Given the description of an element on the screen output the (x, y) to click on. 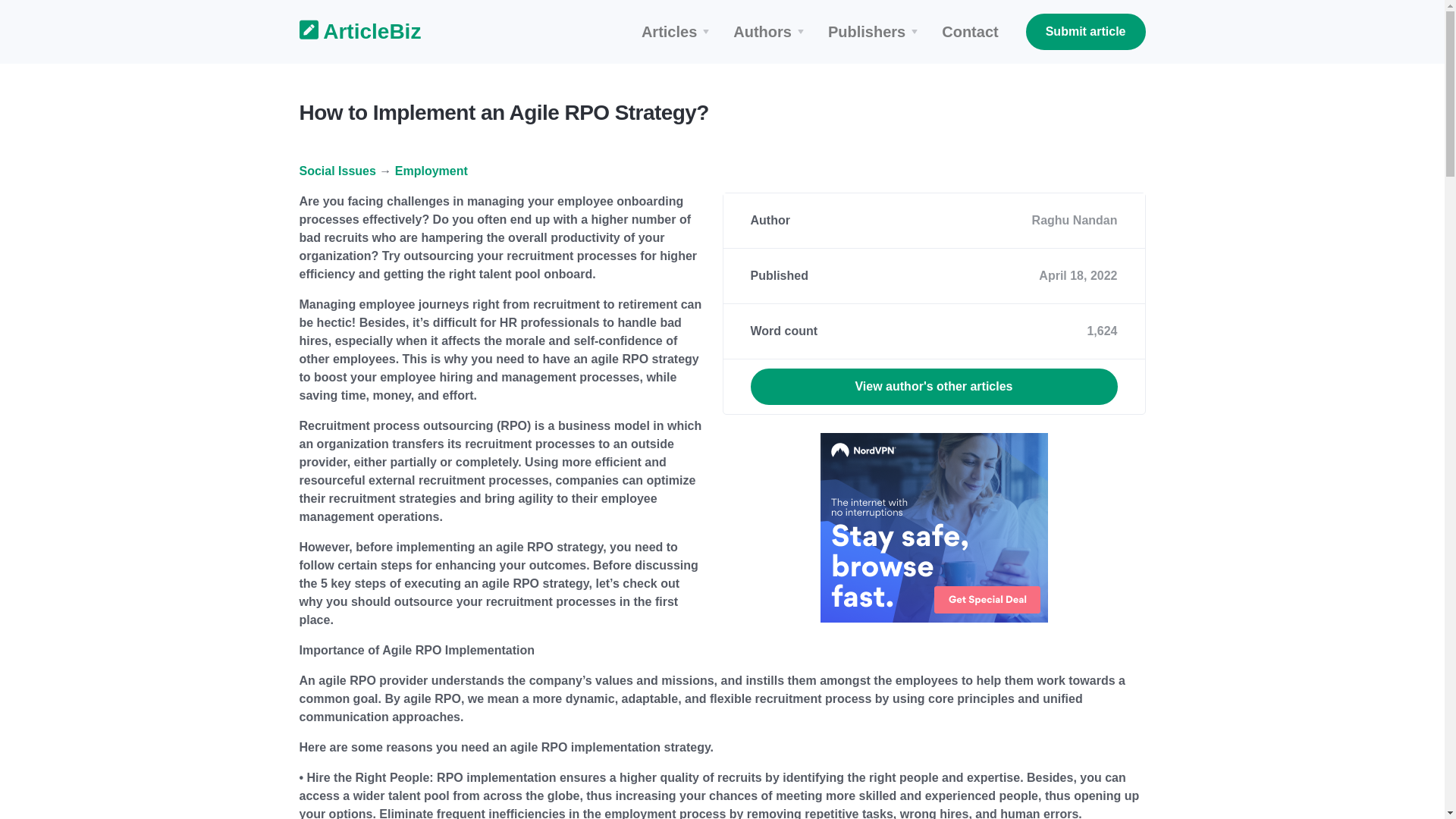
Contact (970, 31)
Employment (430, 170)
View author's other articles (934, 386)
Publishers (875, 31)
ArticleBiz (349, 31)
Articles (677, 31)
Submit article (1085, 31)
Authors (770, 31)
Social Issues (336, 170)
